Given the description of an element on the screen output the (x, y) to click on. 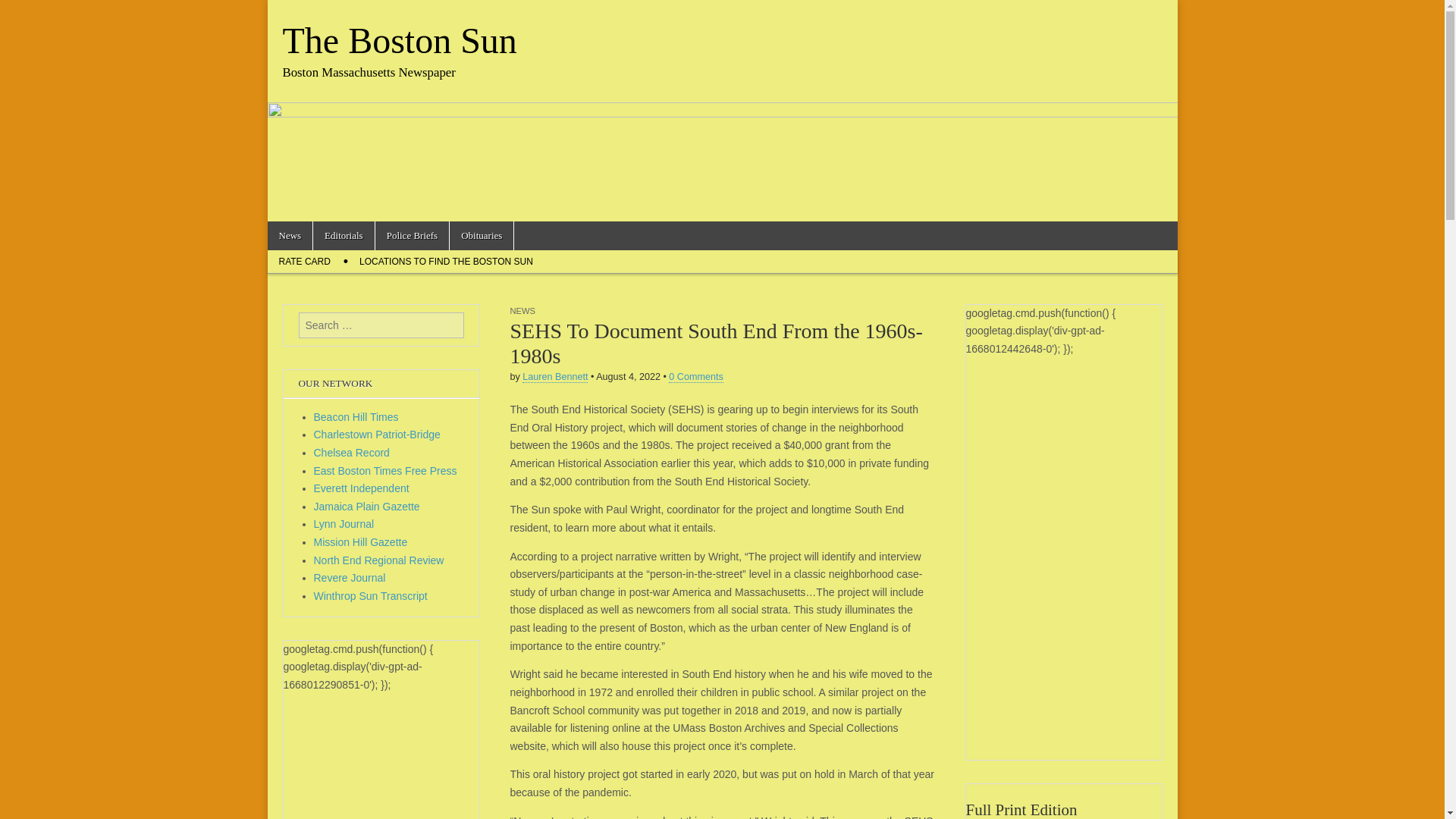
LOCATIONS TO FIND THE BOSTON SUN (445, 261)
0 Comments (695, 377)
Editorials (343, 235)
The Boston Sun (399, 40)
Search (23, 12)
RATE CARD (303, 261)
Chelsea Record (352, 452)
North End Regional Review (379, 560)
Everett Independent (361, 488)
Beacon Hill Times (356, 417)
Posts by Lauren Bennett (555, 377)
The Boston Sun (399, 40)
